Given the description of an element on the screen output the (x, y) to click on. 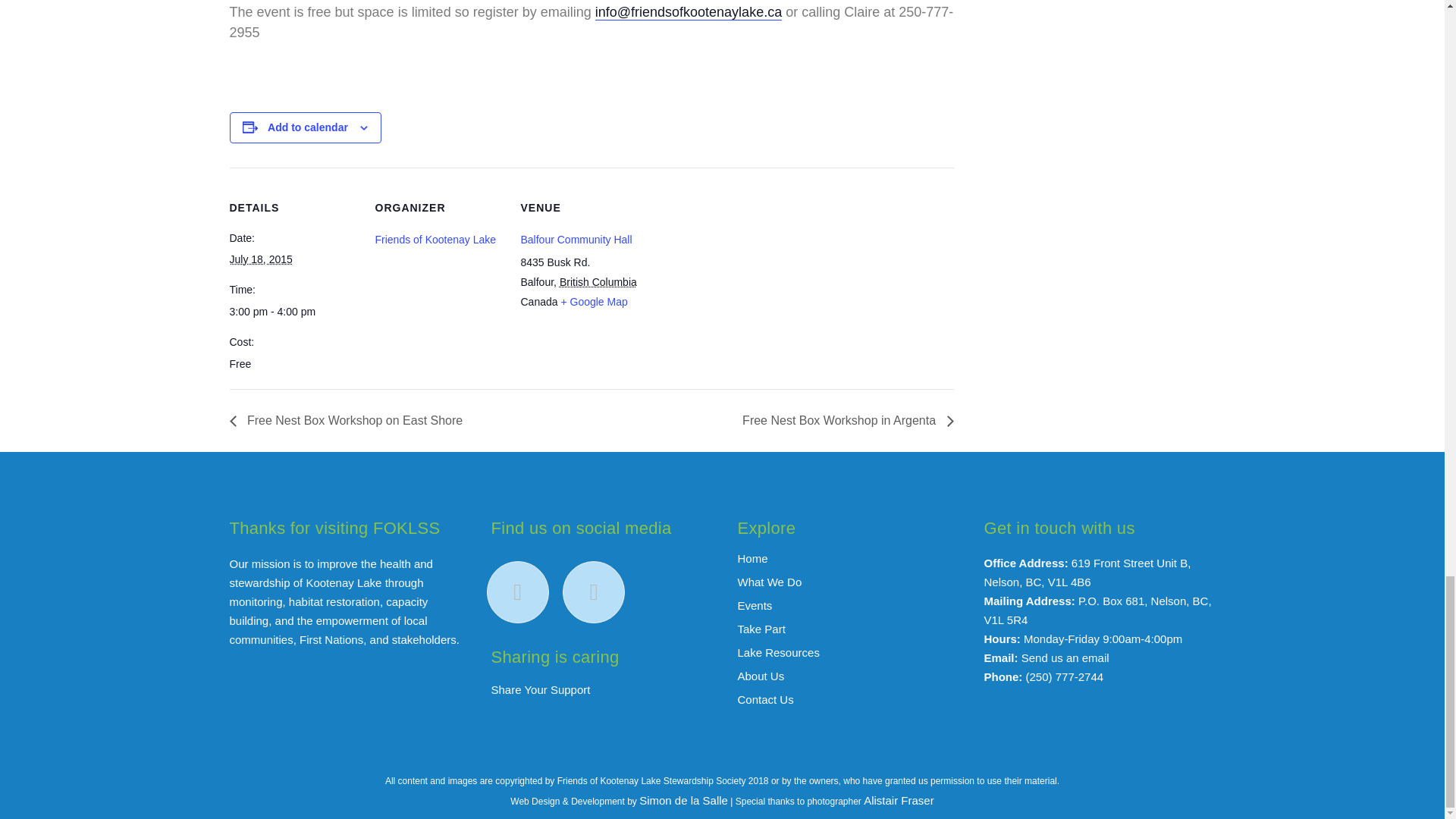
2015-07-18 (260, 259)
Click to view a Google Map (593, 301)
British Columbia (598, 282)
2015-07-18 (292, 311)
Friends of Kootenay Lake (435, 239)
